Given the description of an element on the screen output the (x, y) to click on. 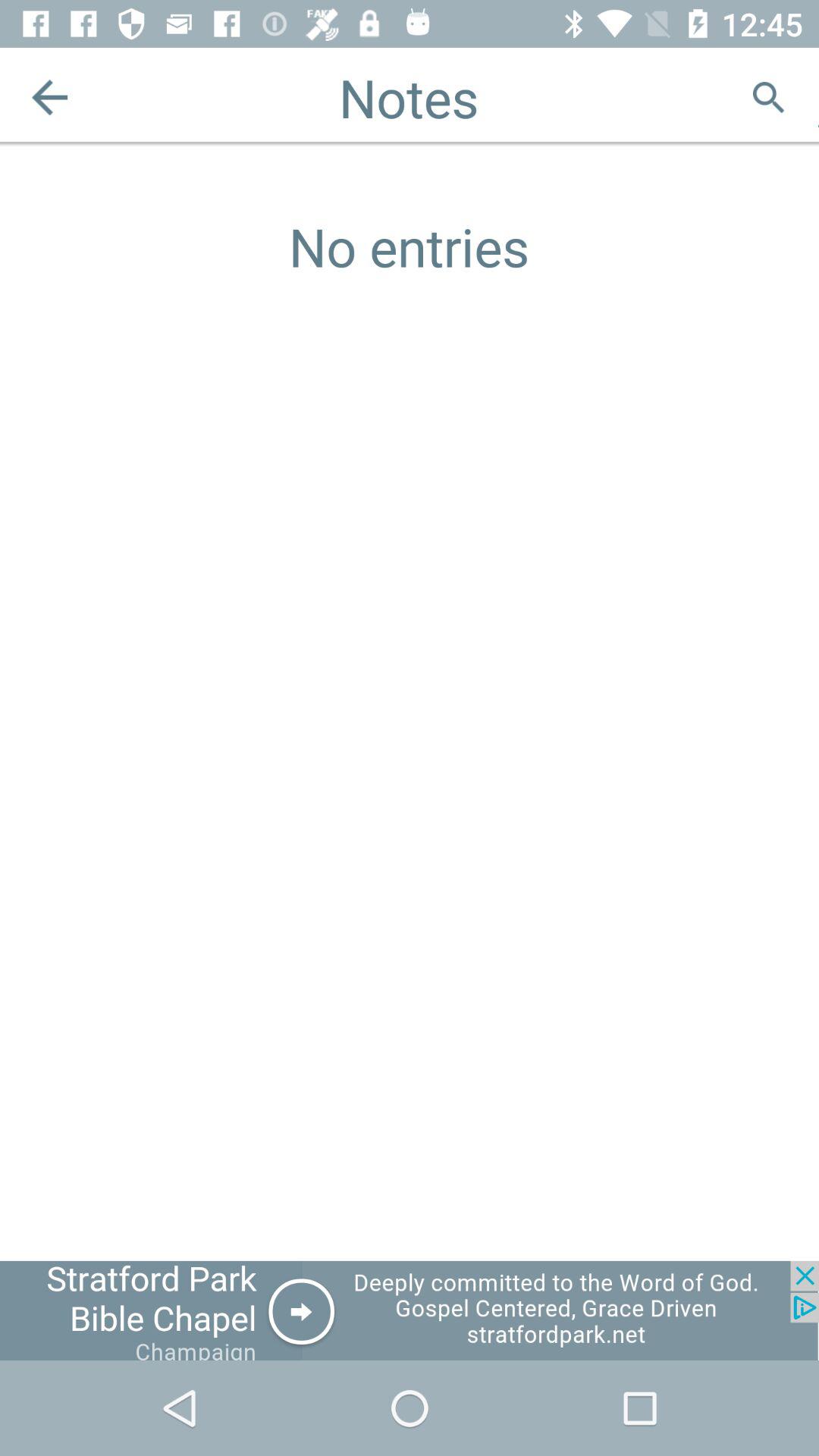
click on advertisement (409, 1310)
